Given the description of an element on the screen output the (x, y) to click on. 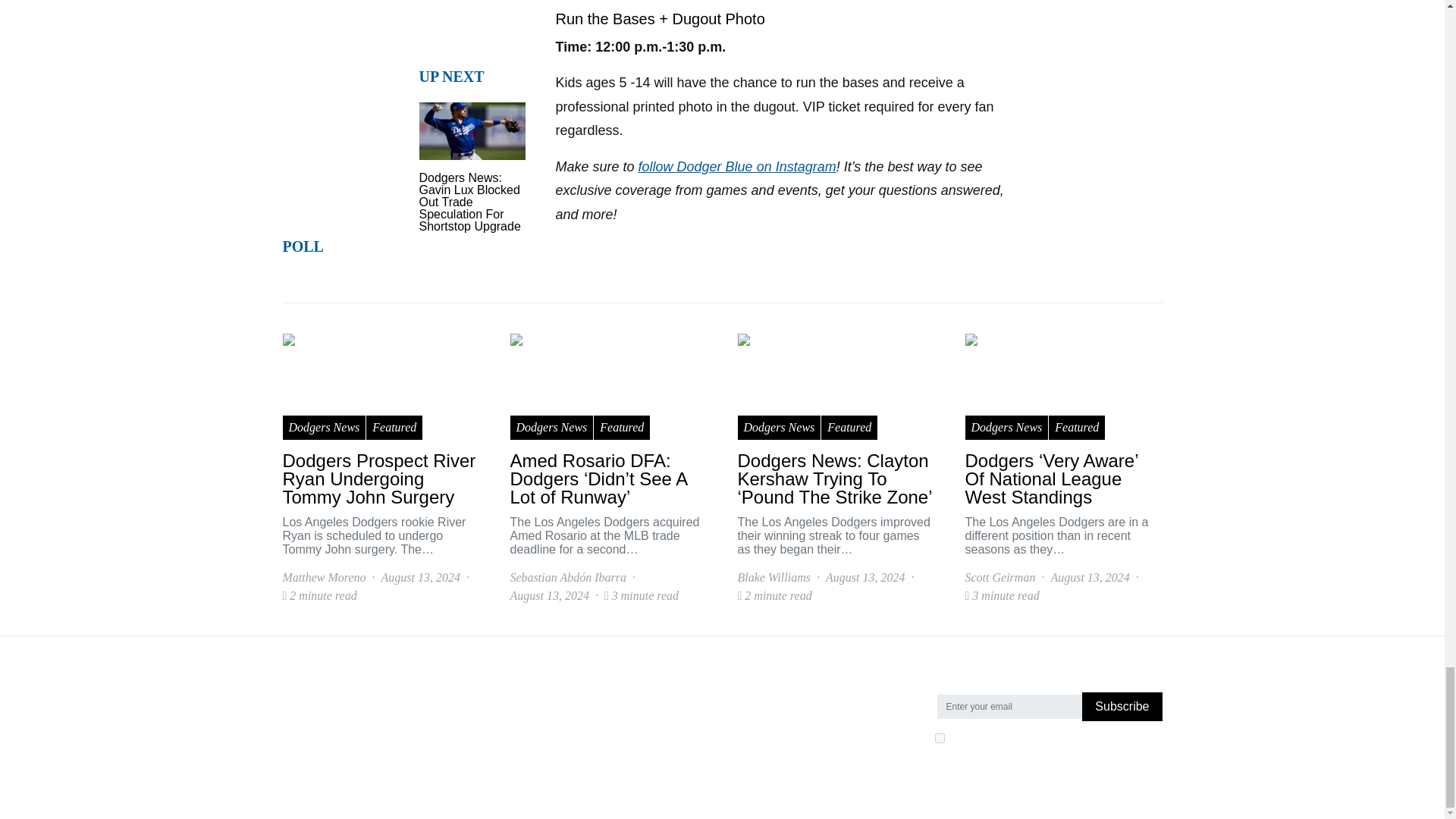
View all posts by Blake Williams (772, 577)
View all posts by Matthew Moreno (323, 577)
on (938, 737)
View all posts by Scott Geirman (999, 577)
